Given the description of an element on the screen output the (x, y) to click on. 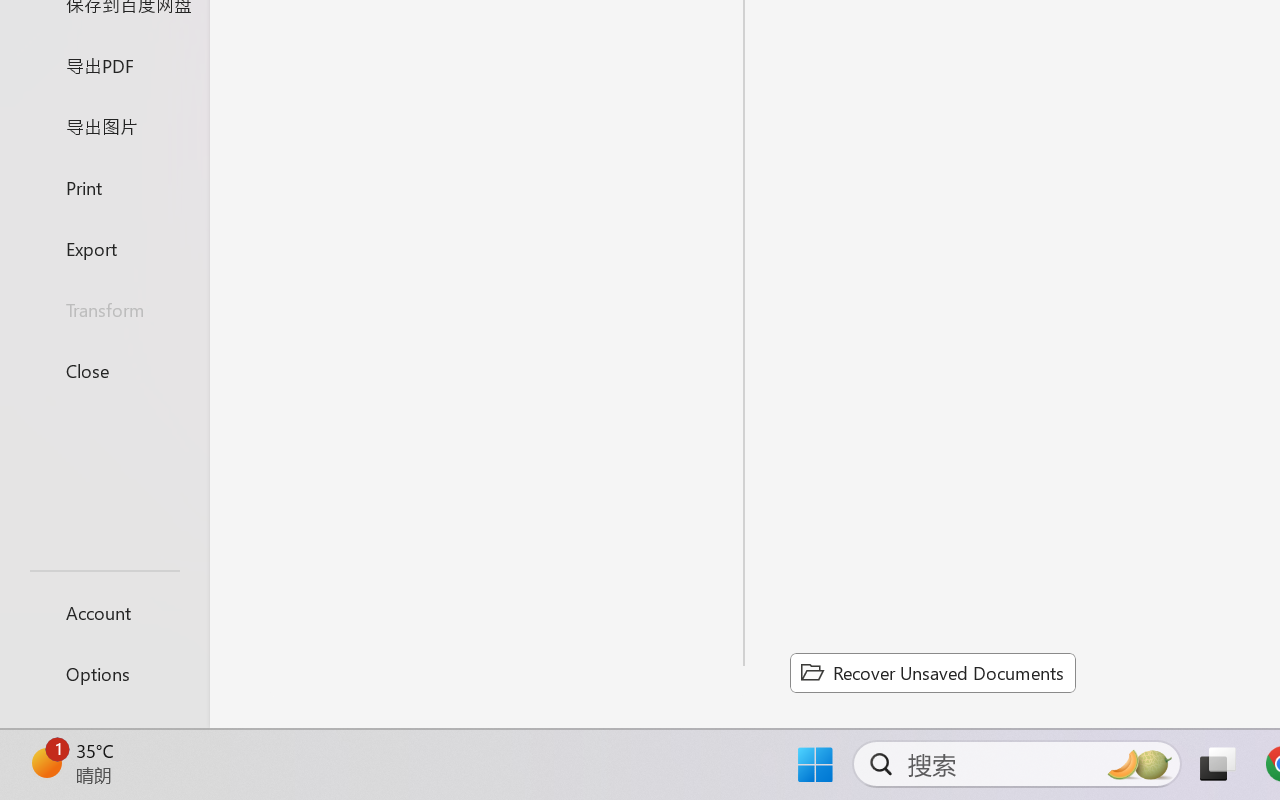
Transform (104, 309)
Options (104, 673)
Recover Unsaved Documents (932, 672)
Export (104, 248)
Print (104, 186)
Account (104, 612)
